Given the description of an element on the screen output the (x, y) to click on. 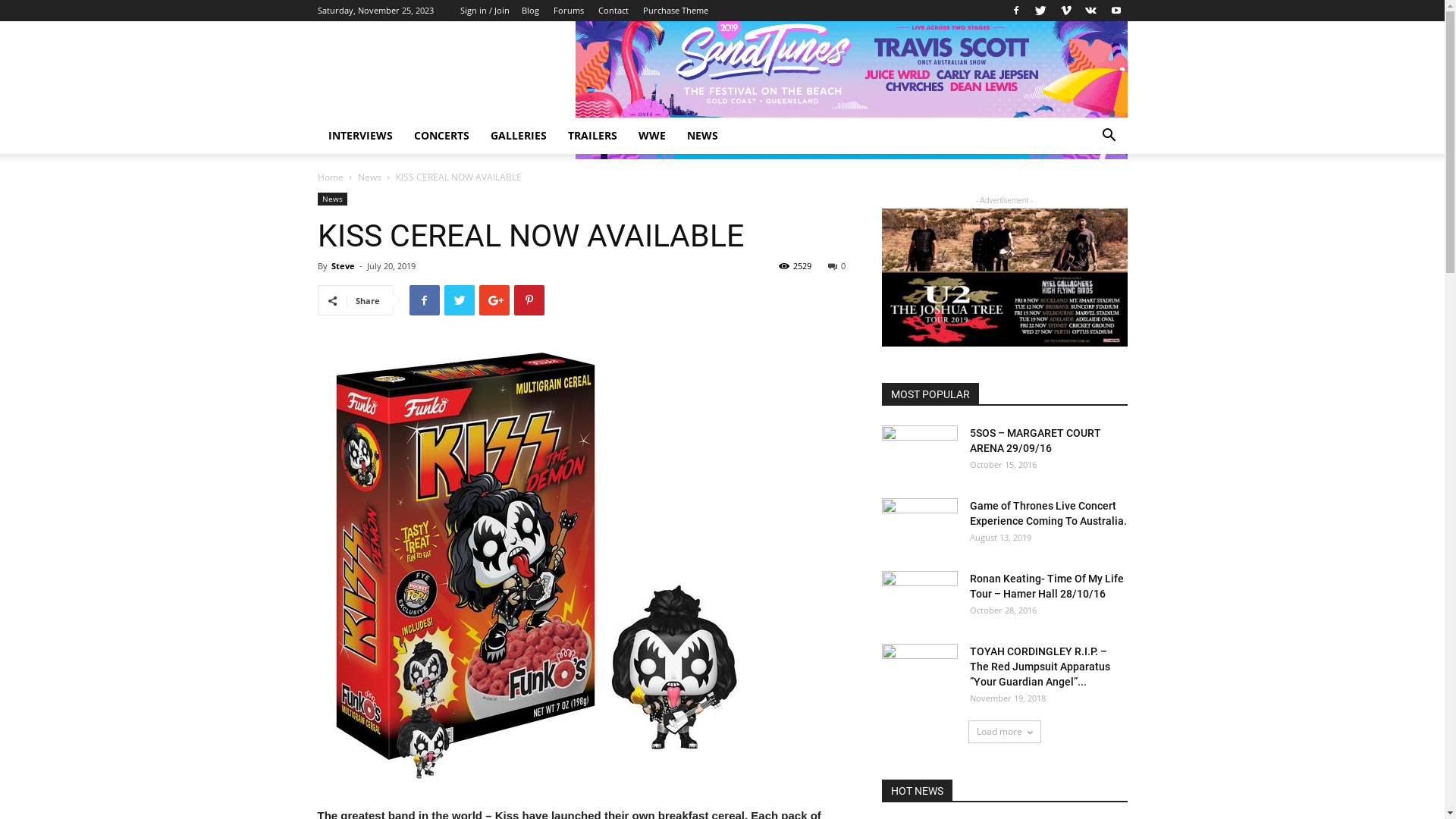
GALLERIES Element type: text (517, 135)
TRAILERS Element type: text (591, 135)
Steve Element type: text (342, 265)
0 Element type: text (836, 265)
Load more Element type: text (1003, 731)
CONCERTS Element type: text (441, 135)
Contact Element type: text (612, 9)
Game of Thrones Live Concert Experience Coming To Australia. Element type: text (1047, 513)
Facebook Element type: hover (1015, 10)
NEWS Element type: text (702, 135)
Vimeo Element type: hover (1065, 10)
fye.000000889698398091_0 Element type: hover (537, 564)
News Element type: text (369, 176)
Twitter Element type: hover (1040, 10)
VKontakte Element type: hover (1090, 10)
Forums Element type: text (568, 9)
Youtube Element type: hover (1115, 10)
WWE Element type: text (651, 135)
INTERVIEWS Element type: text (359, 135)
Game of Thrones Live Concert Experience Coming To Australia. Element type: hover (919, 524)
Blog Element type: text (530, 9)
Home Element type: text (329, 176)
News Element type: text (331, 198)
Search Element type: text (1085, 196)
Purchase Theme Element type: text (675, 9)
Sign in / Join Element type: text (483, 9)
